Given the description of an element on the screen output the (x, y) to click on. 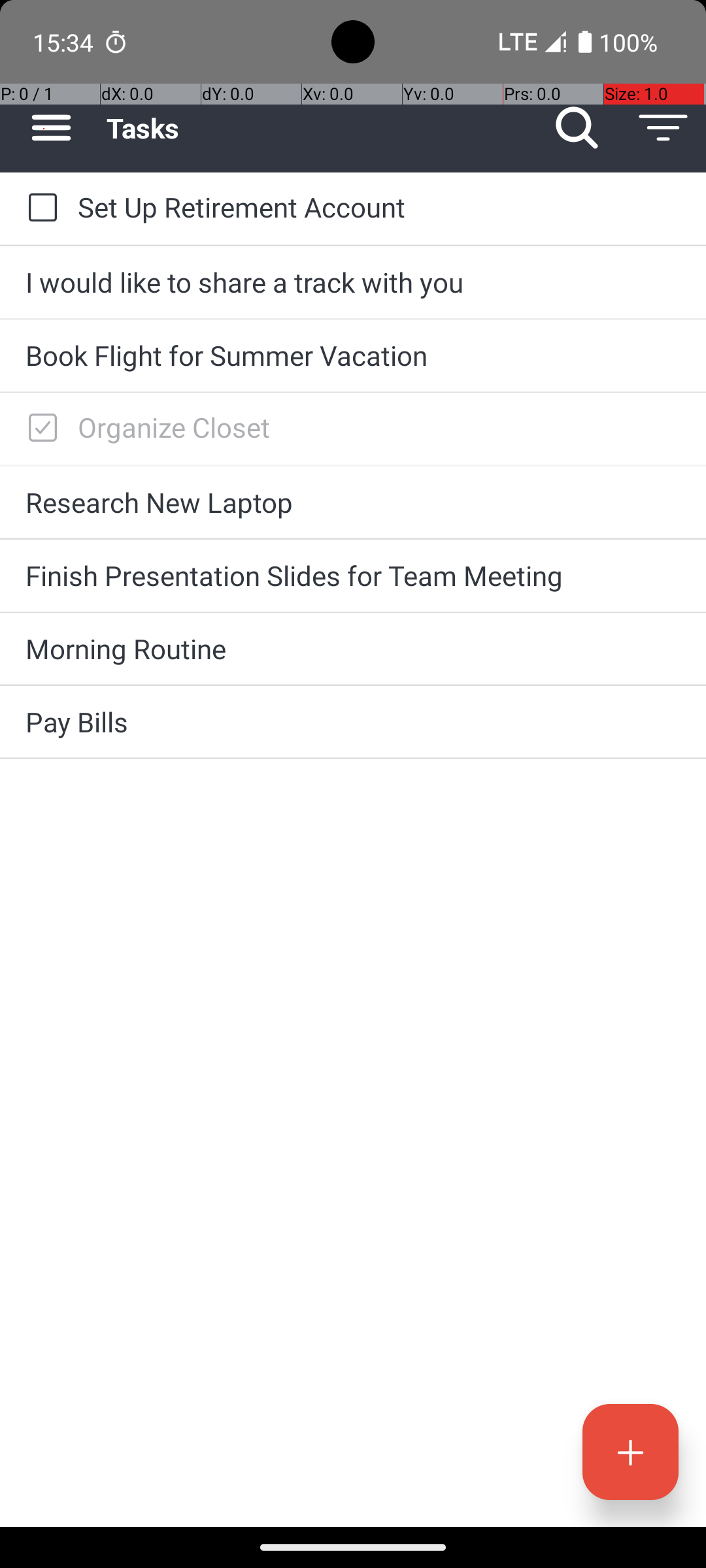
to-do: Set Up Retirement Account Element type: android.widget.CheckBox (38, 208)
Set Up Retirement Account Element type: android.widget.TextView (378, 206)
I would like to share a track with you Element type: android.widget.TextView (352, 281)
Book Flight for Summer Vacation Element type: android.widget.TextView (352, 354)
to-do: Organize Closet Element type: android.widget.CheckBox (38, 428)
Research New Laptop Element type: android.widget.TextView (352, 501)
Finish Presentation Slides for Team Meeting Element type: android.widget.TextView (352, 574)
Morning Routine Element type: android.widget.TextView (352, 648)
Pay Bills Element type: android.widget.TextView (352, 721)
